Given the description of an element on the screen output the (x, y) to click on. 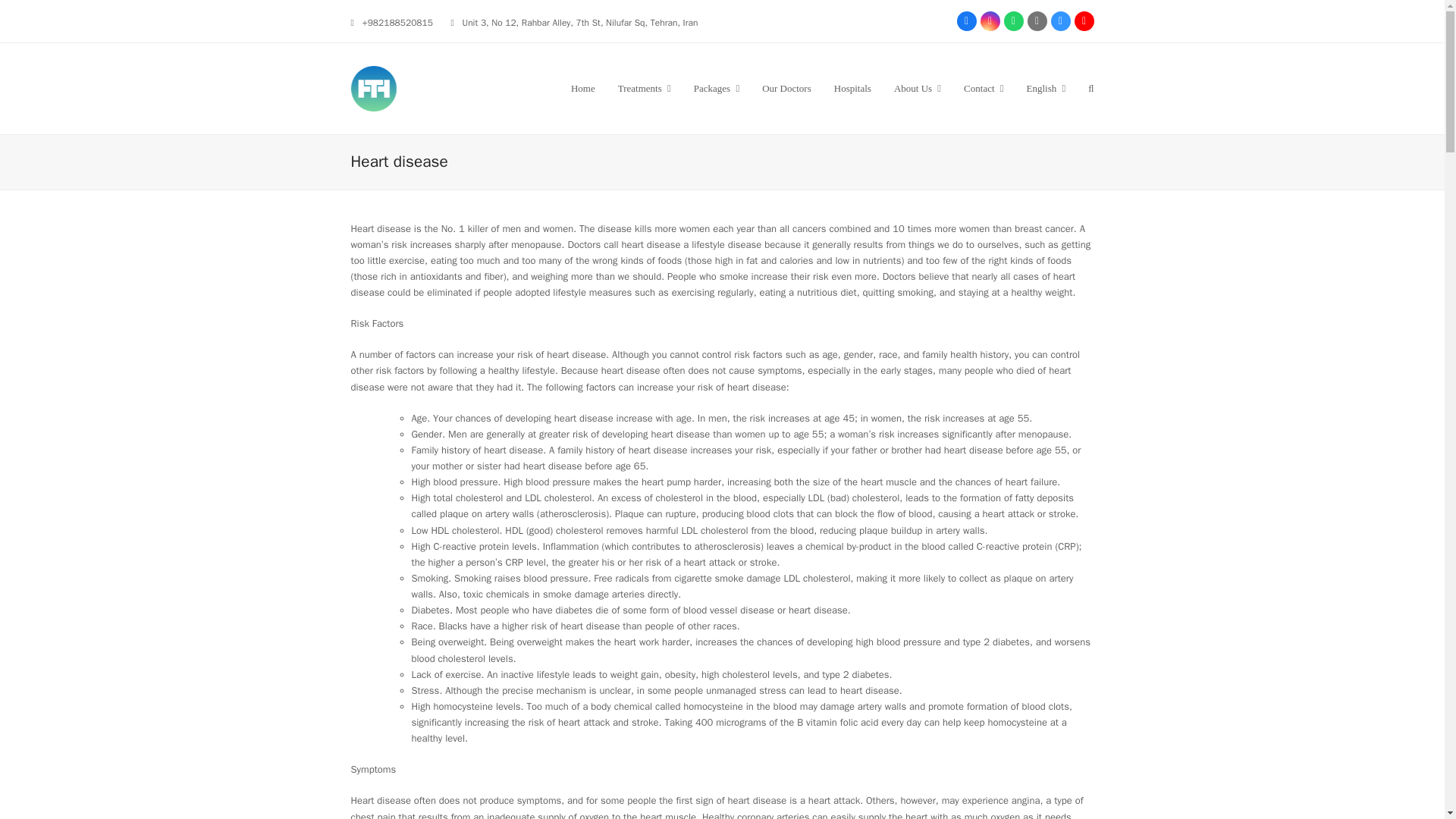
Whatsapp (1013, 21)
Facebook (966, 21)
Email (1036, 21)
Email (1036, 21)
Instagram (988, 21)
Phone (1060, 21)
Phone (1060, 21)
Youtube (1083, 21)
Home (583, 88)
Whatsapp (1013, 21)
